Given the description of an element on the screen output the (x, y) to click on. 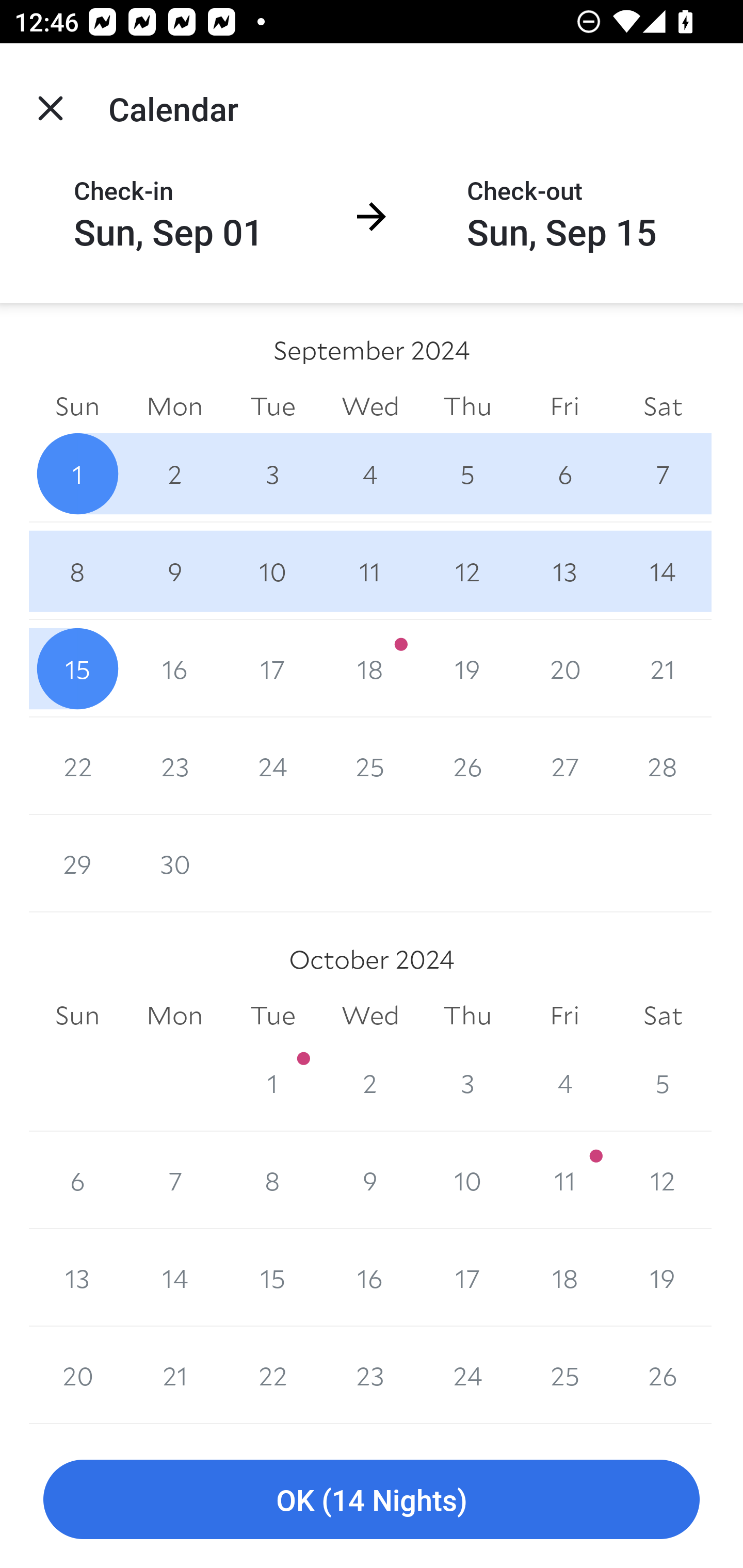
Sun (77, 405)
Mon (174, 405)
Tue (272, 405)
Wed (370, 405)
Thu (467, 405)
Fri (564, 405)
Sat (662, 405)
1 1 September 2024 (77, 473)
2 2 September 2024 (174, 473)
3 3 September 2024 (272, 473)
4 4 September 2024 (370, 473)
5 5 September 2024 (467, 473)
6 6 September 2024 (564, 473)
7 7 September 2024 (662, 473)
8 8 September 2024 (77, 570)
9 9 September 2024 (174, 570)
10 10 September 2024 (272, 570)
11 11 September 2024 (370, 570)
12 12 September 2024 (467, 570)
13 13 September 2024 (564, 570)
14 14 September 2024 (662, 570)
15 15 September 2024 (77, 668)
16 16 September 2024 (174, 668)
17 17 September 2024 (272, 668)
18 18 September 2024 (370, 668)
19 19 September 2024 (467, 668)
20 20 September 2024 (564, 668)
21 21 September 2024 (662, 668)
22 22 September 2024 (77, 766)
23 23 September 2024 (174, 766)
24 24 September 2024 (272, 766)
25 25 September 2024 (370, 766)
26 26 September 2024 (467, 766)
27 27 September 2024 (564, 766)
28 28 September 2024 (662, 766)
29 29 September 2024 (77, 863)
30 30 September 2024 (174, 863)
1 1 September 2024 (272, 863)
Sun (77, 1015)
Mon (174, 1015)
Tue (272, 1015)
Wed (370, 1015)
Thu (467, 1015)
Fri (564, 1015)
Sat (662, 1015)
1 1 October 2024 (272, 1083)
2 2 October 2024 (370, 1083)
3 3 October 2024 (467, 1083)
4 4 October 2024 (564, 1083)
5 5 October 2024 (662, 1083)
6 6 October 2024 (77, 1180)
7 7 October 2024 (174, 1180)
8 8 October 2024 (272, 1180)
9 9 October 2024 (370, 1180)
10 10 October 2024 (467, 1180)
11 11 October 2024 (564, 1180)
12 12 October 2024 (662, 1180)
13 13 October 2024 (77, 1277)
14 14 October 2024 (174, 1277)
15 15 October 2024 (272, 1277)
16 16 October 2024 (370, 1277)
17 17 October 2024 (467, 1277)
18 18 October 2024 (564, 1277)
19 19 October 2024 (662, 1277)
20 20 October 2024 (77, 1374)
21 21 October 2024 (174, 1374)
22 22 October 2024 (272, 1374)
23 23 October 2024 (370, 1374)
24 24 October 2024 (467, 1374)
25 25 October 2024 (564, 1374)
26 26 October 2024 (662, 1374)
OK (14 Nights) (371, 1499)
